Given the description of an element on the screen output the (x, y) to click on. 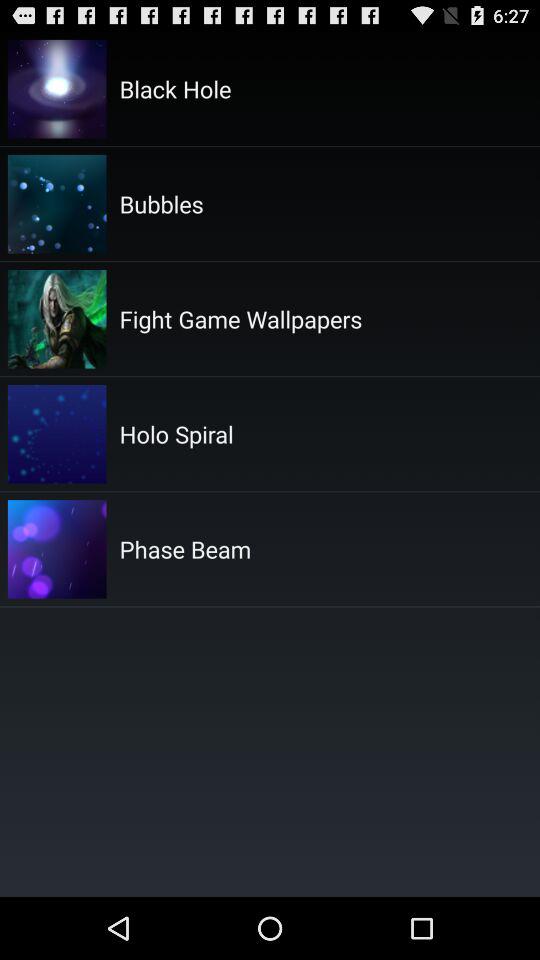
open the icon above the bubbles icon (175, 88)
